Given the description of an element on the screen output the (x, y) to click on. 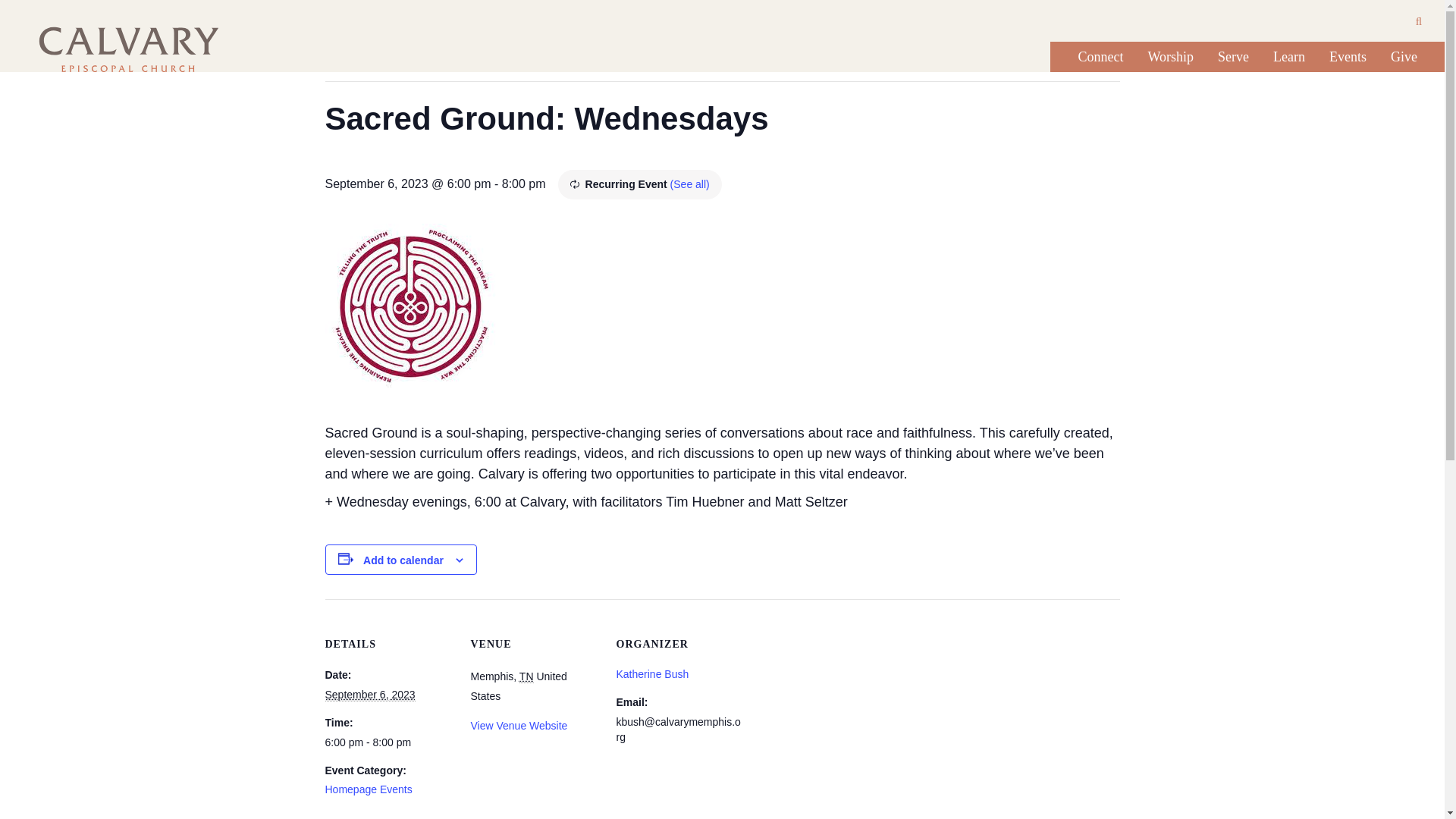
2023-09-06 (369, 694)
Tennessee (526, 676)
2023-09-06 (387, 742)
Katherine Bush (651, 674)
